Given the description of an element on the screen output the (x, y) to click on. 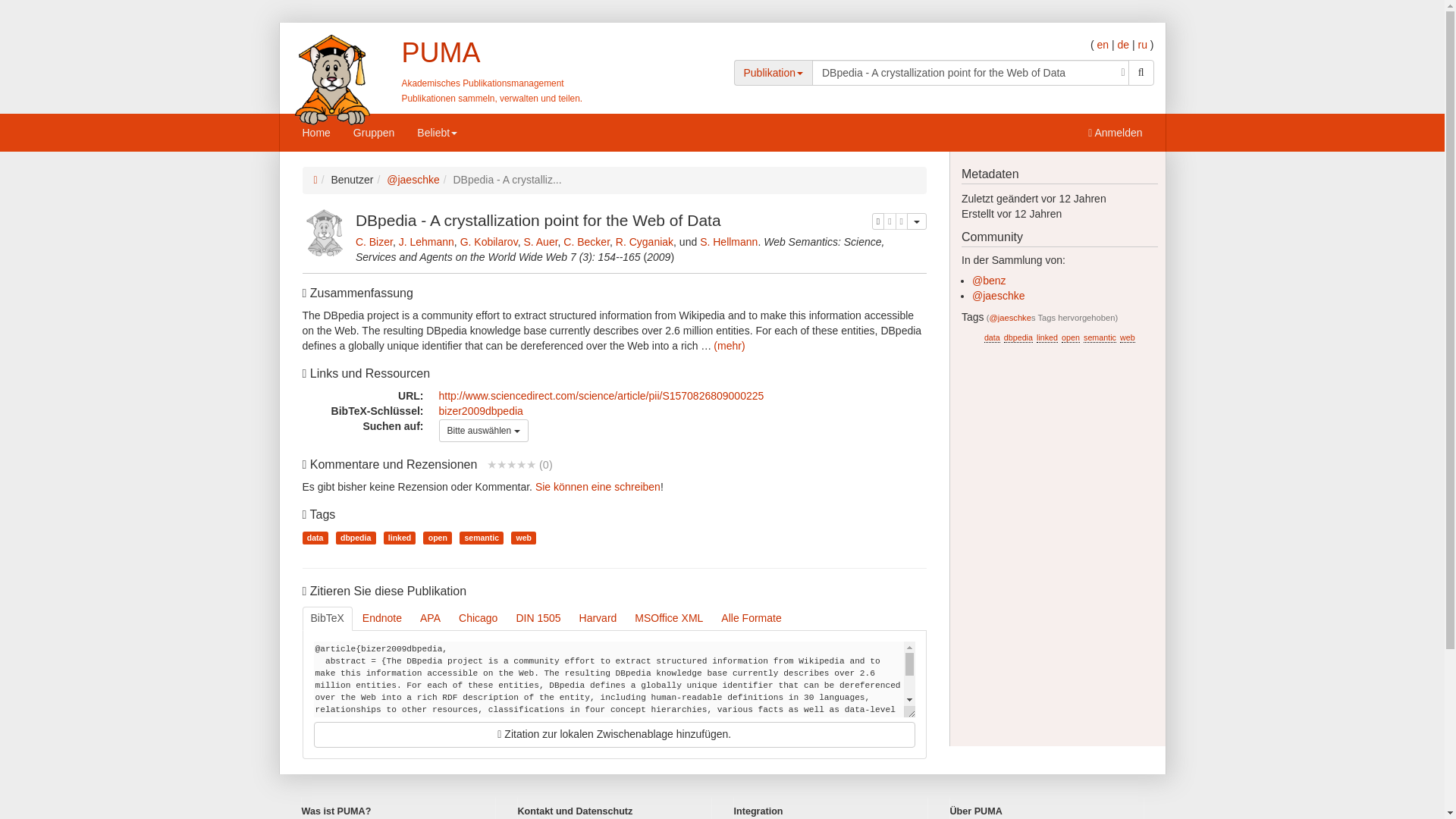
home (440, 51)
en (1102, 44)
de (1122, 44)
Beliebt  (437, 132)
PUMA (440, 51)
DBpedia - A crystallization point for the Web of Data (970, 72)
Anmelden (1115, 132)
Publikation (772, 72)
Suche (1141, 72)
Gruppen (374, 132)
